Given the description of an element on the screen output the (x, y) to click on. 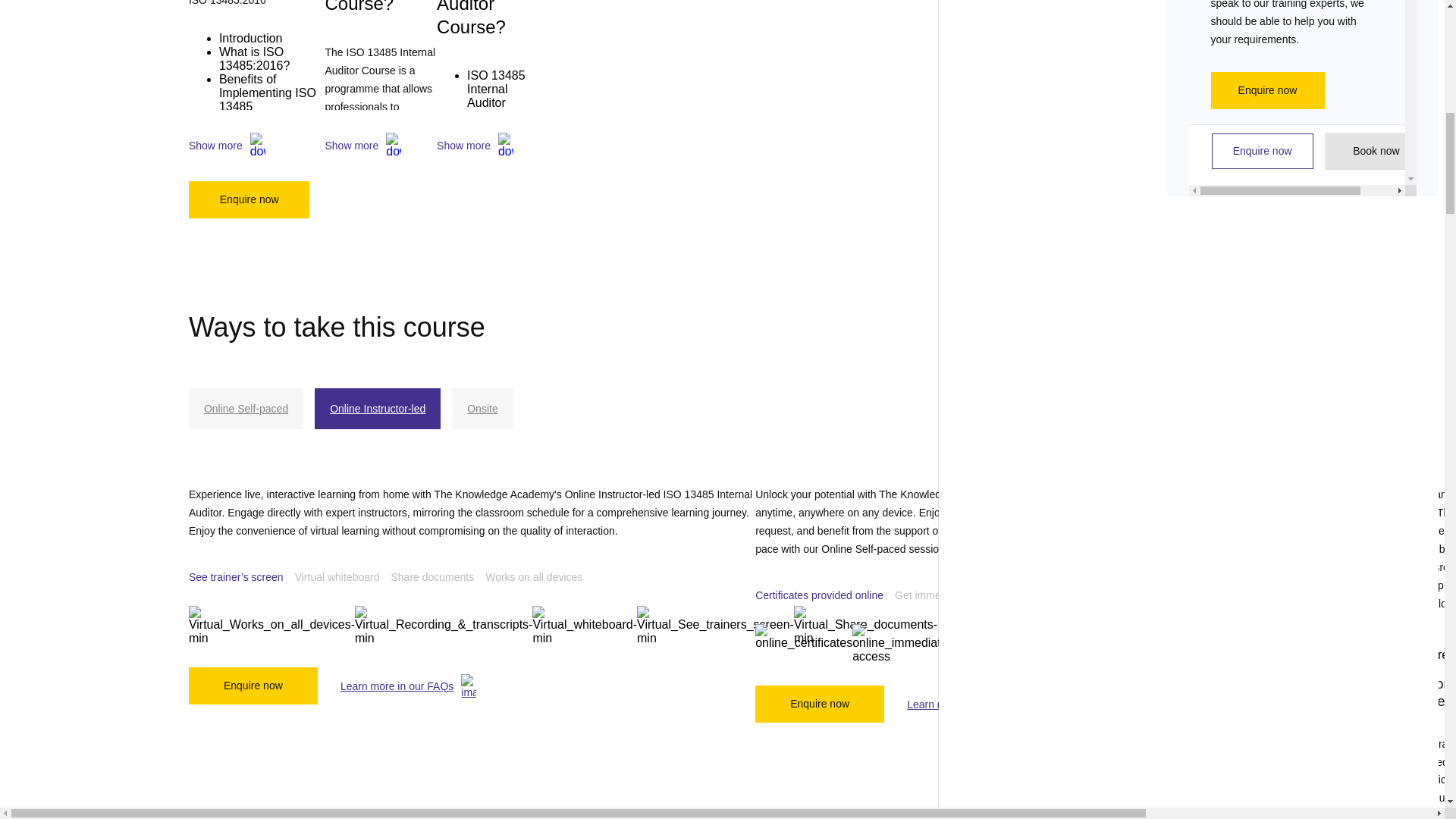
Show more (256, 145)
Show more (380, 145)
Show more (489, 145)
Enquire now (249, 199)
